Given the description of an element on the screen output the (x, y) to click on. 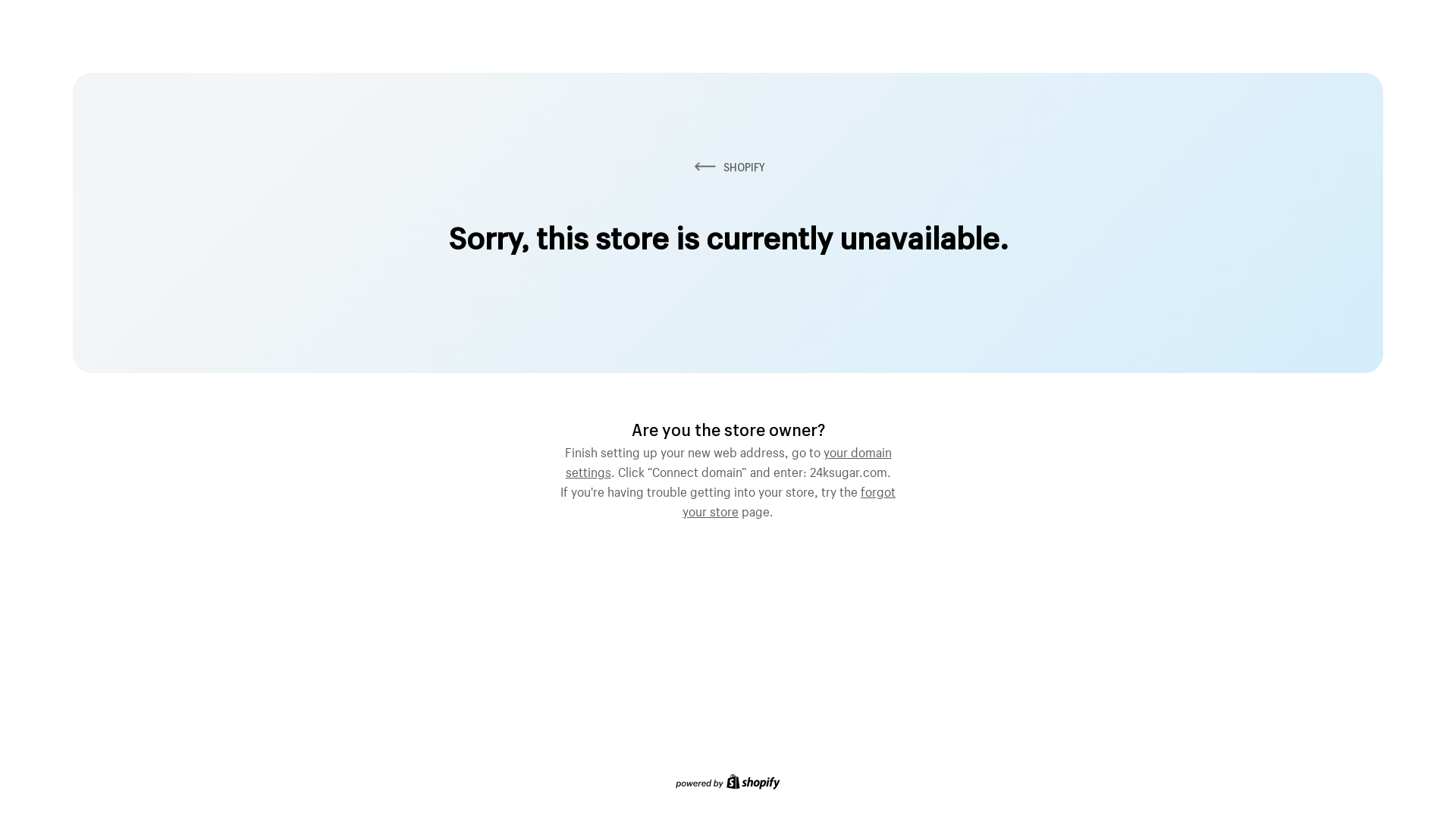
SHOPIFY Element type: text (727, 167)
your domain settings Element type: text (728, 460)
forgot your store Element type: text (788, 499)
